Given the description of an element on the screen output the (x, y) to click on. 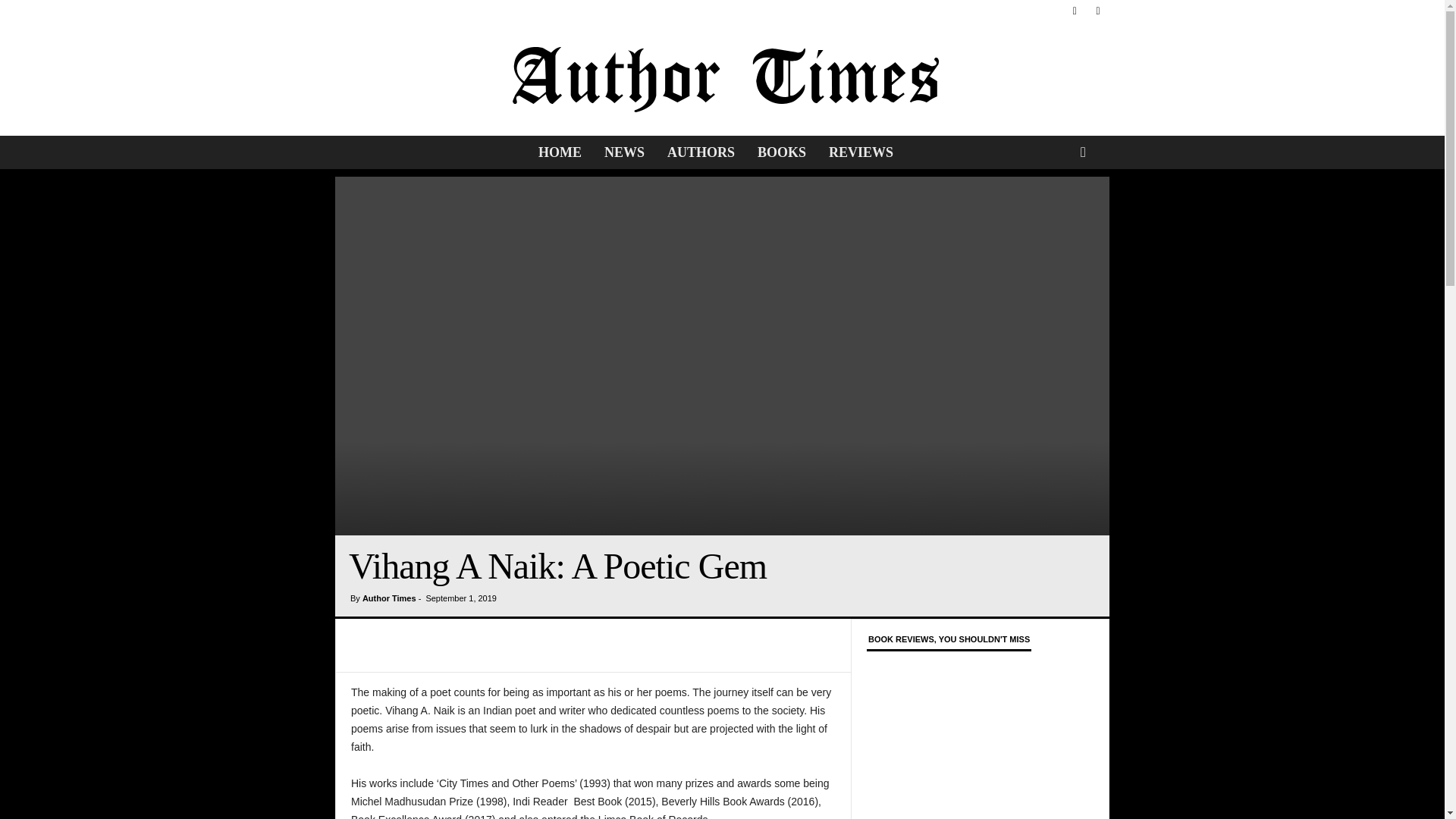
NEWS (624, 151)
AUTHORS (700, 151)
HOME (559, 151)
